Given the description of an element on the screen output the (x, y) to click on. 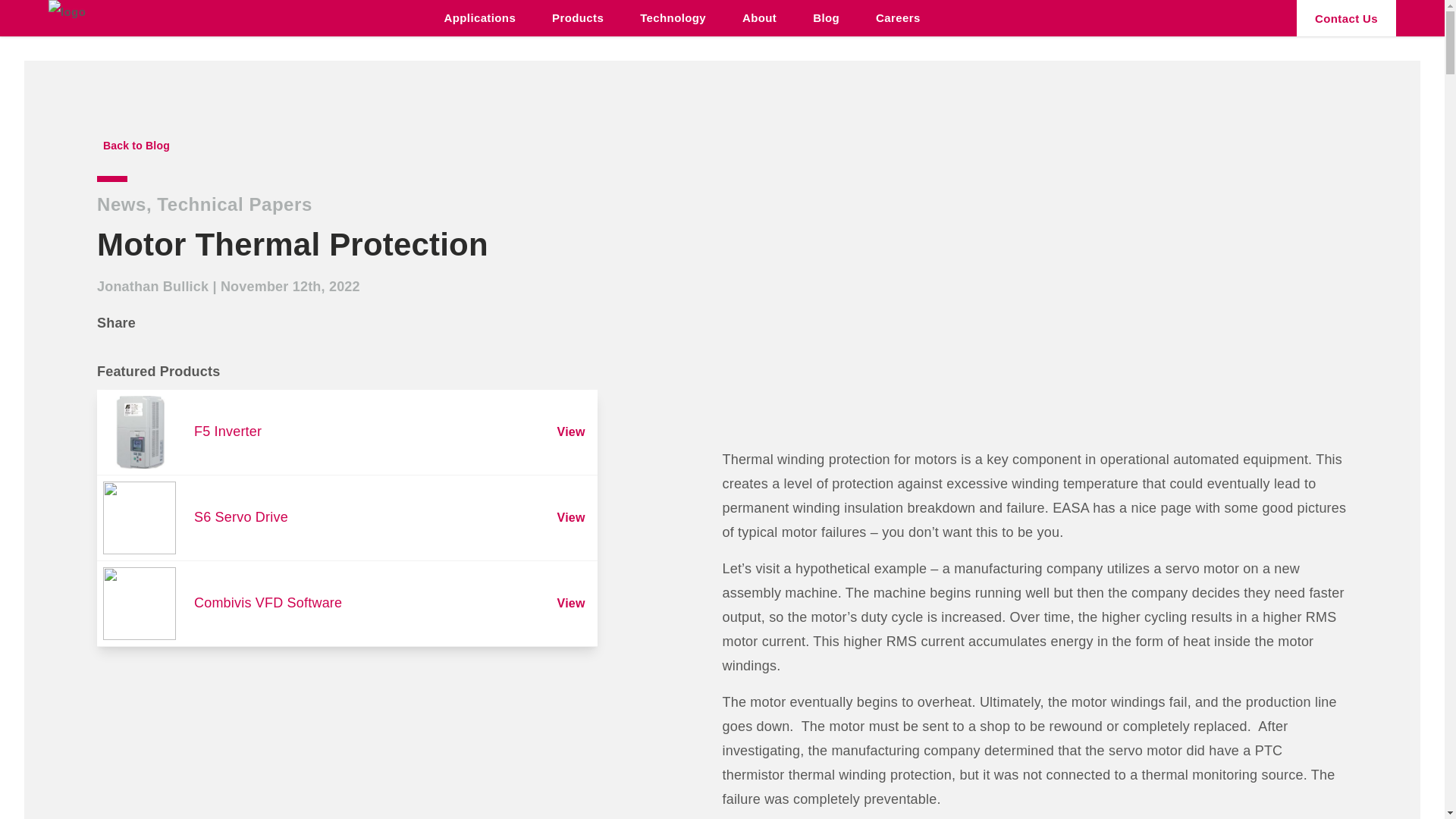
Products (577, 18)
Applications (480, 18)
